Given the description of an element on the screen output the (x, y) to click on. 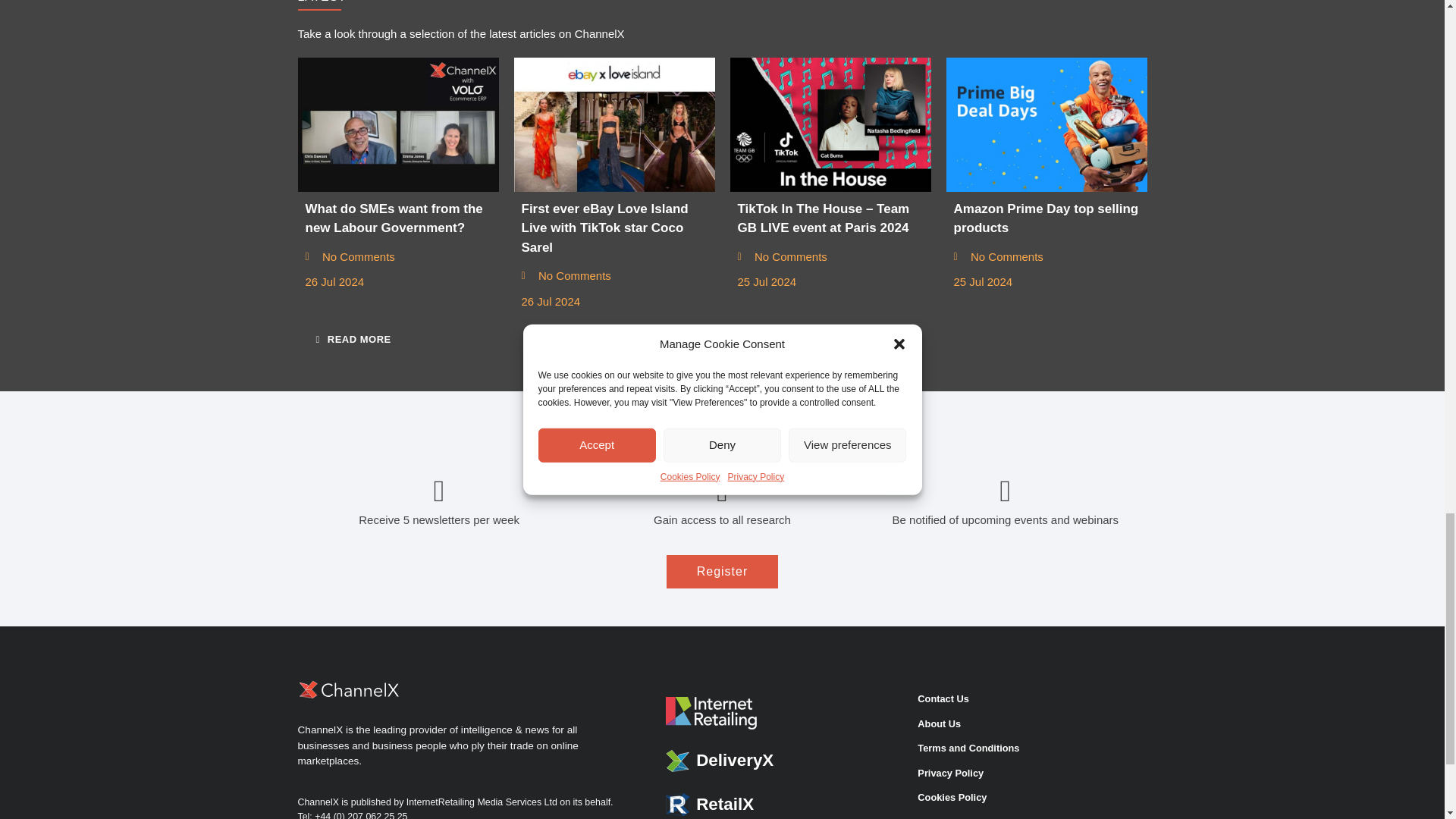
Prime Big Deal Days 2023 is live! (1046, 124)
First ever eBay Love Island Live with TikTok star Coco Sarel (613, 124)
